Given the description of an element on the screen output the (x, y) to click on. 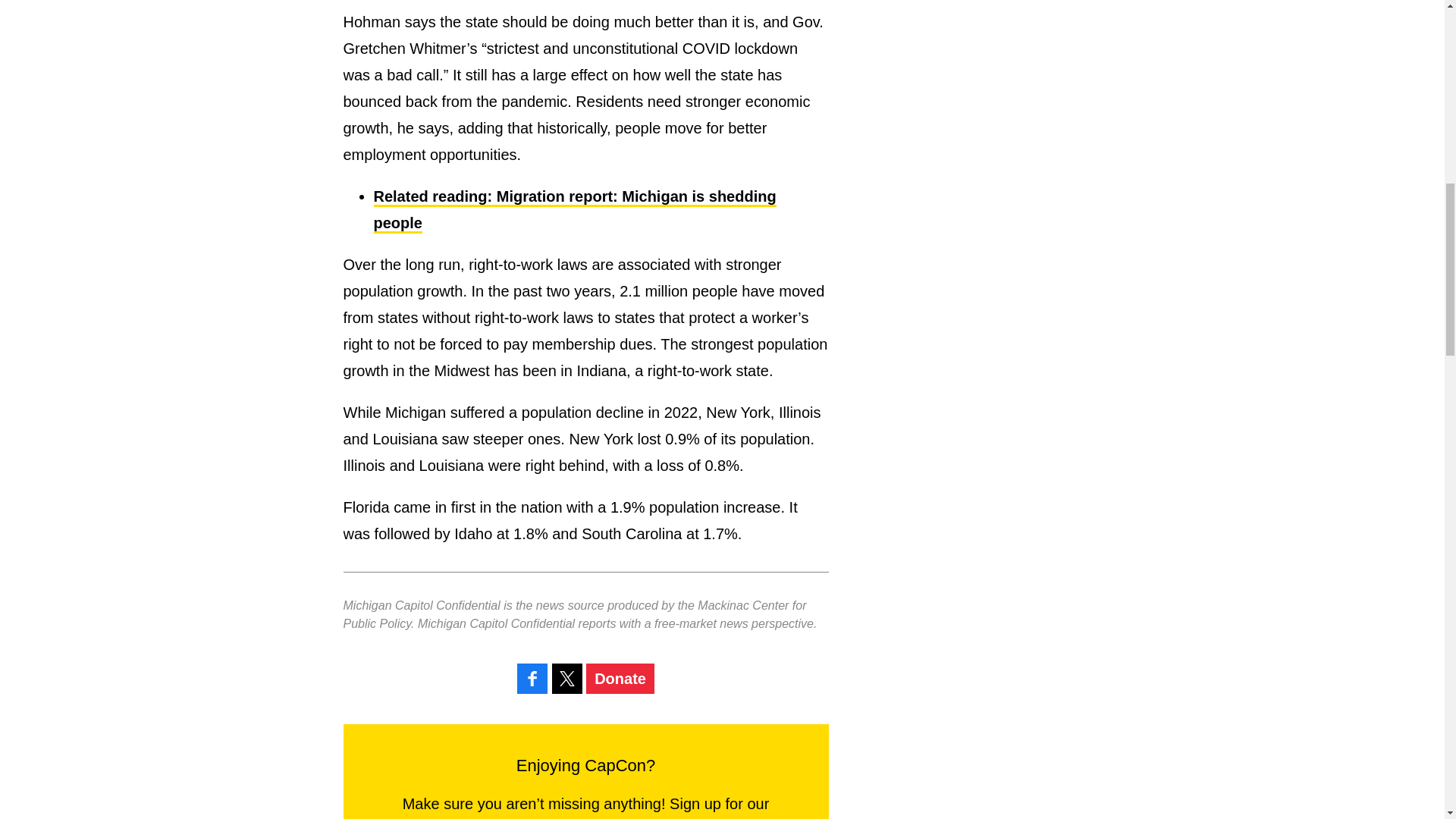
Donate (619, 678)
